Given the description of an element on the screen output the (x, y) to click on. 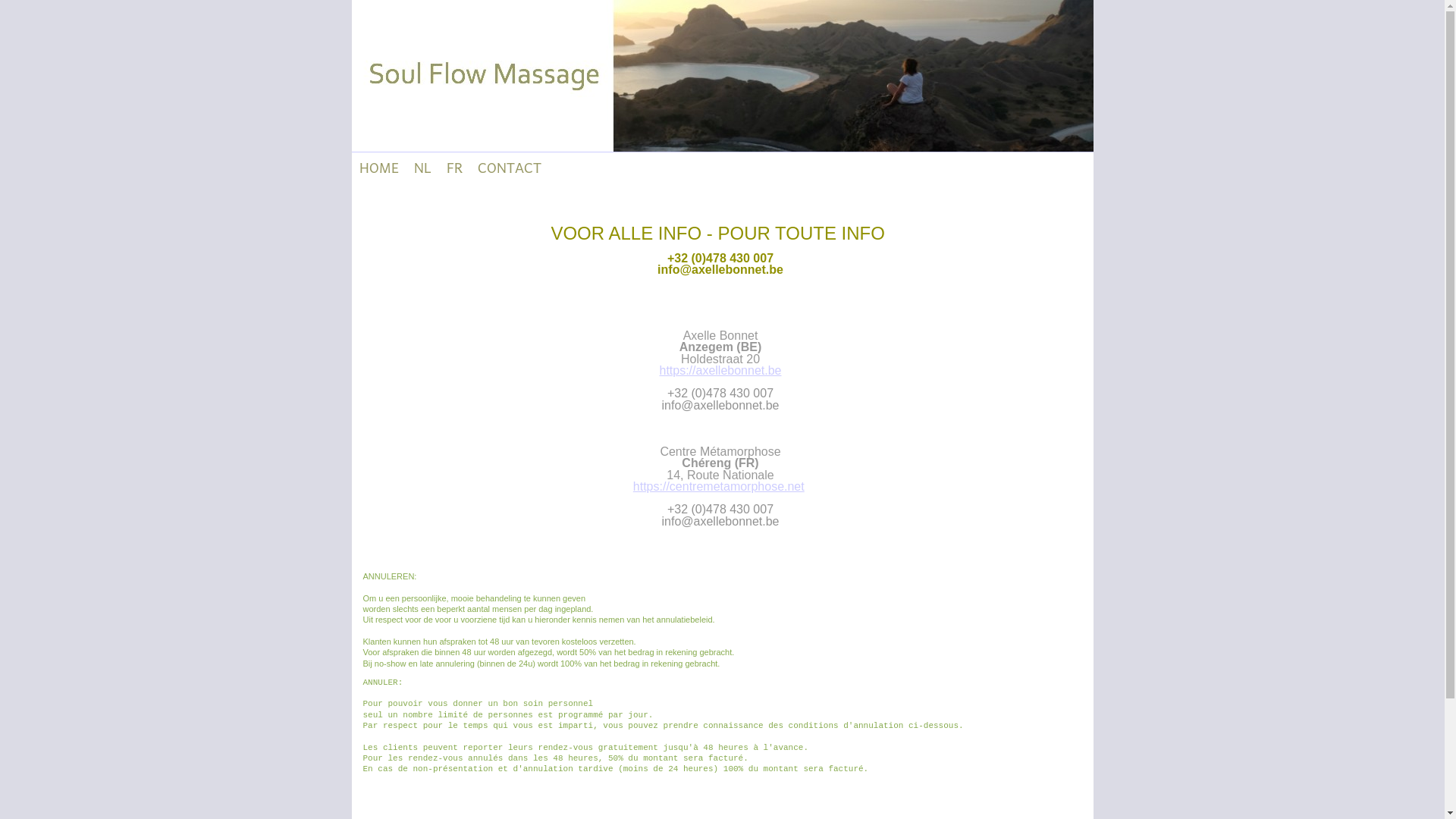
NL Element type: text (422, 167)
FR Element type: text (453, 167)
HOME Element type: text (378, 167)
https://centremetamorphose.net Element type: text (718, 486)
https://axellebonnet.be Element type: text (719, 370)
CONTACT Element type: text (509, 167)
